Given the description of an element on the screen output the (x, y) to click on. 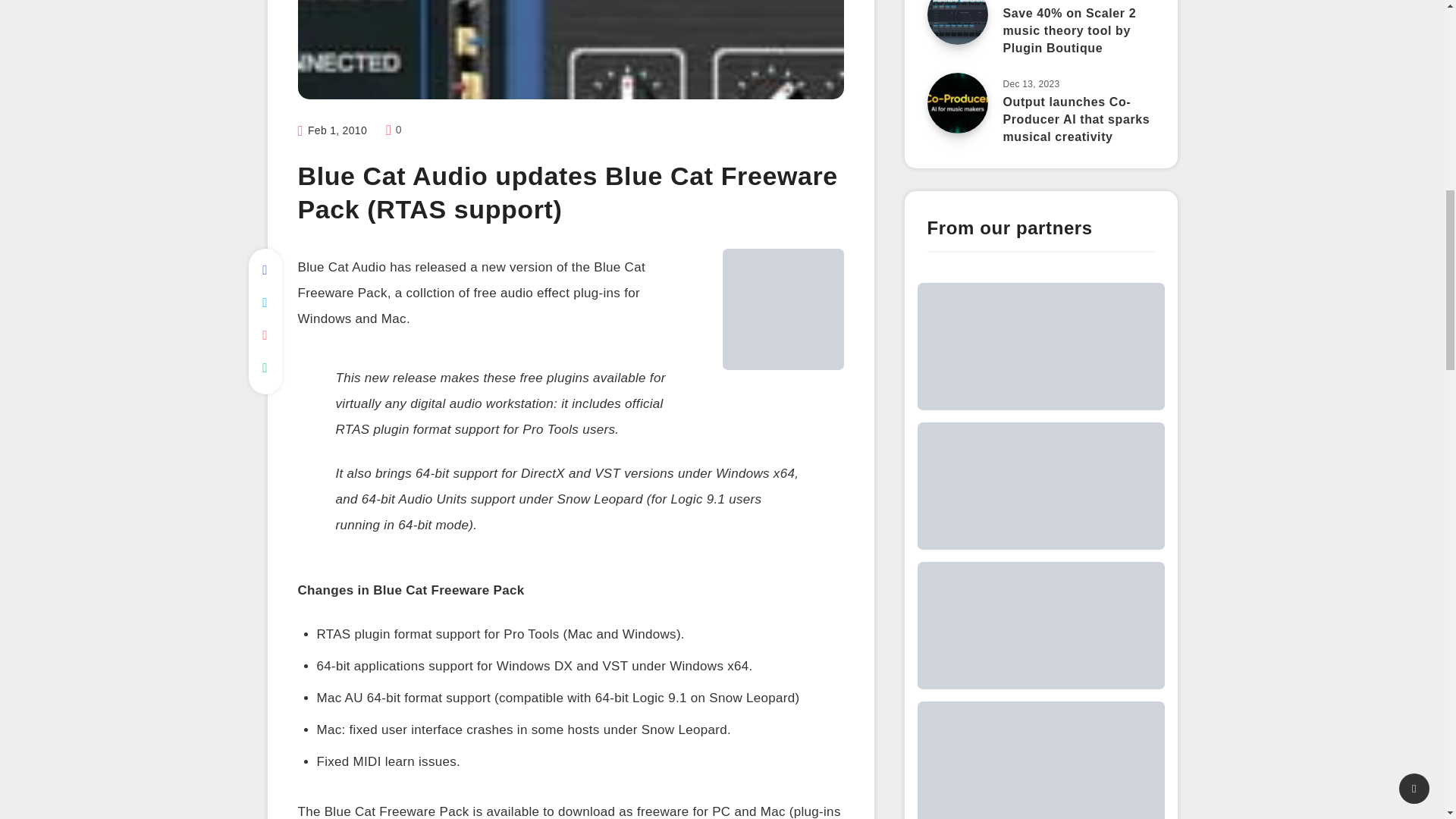
0 (393, 129)
Go to comments (393, 129)
